Given the description of an element on the screen output the (x, y) to click on. 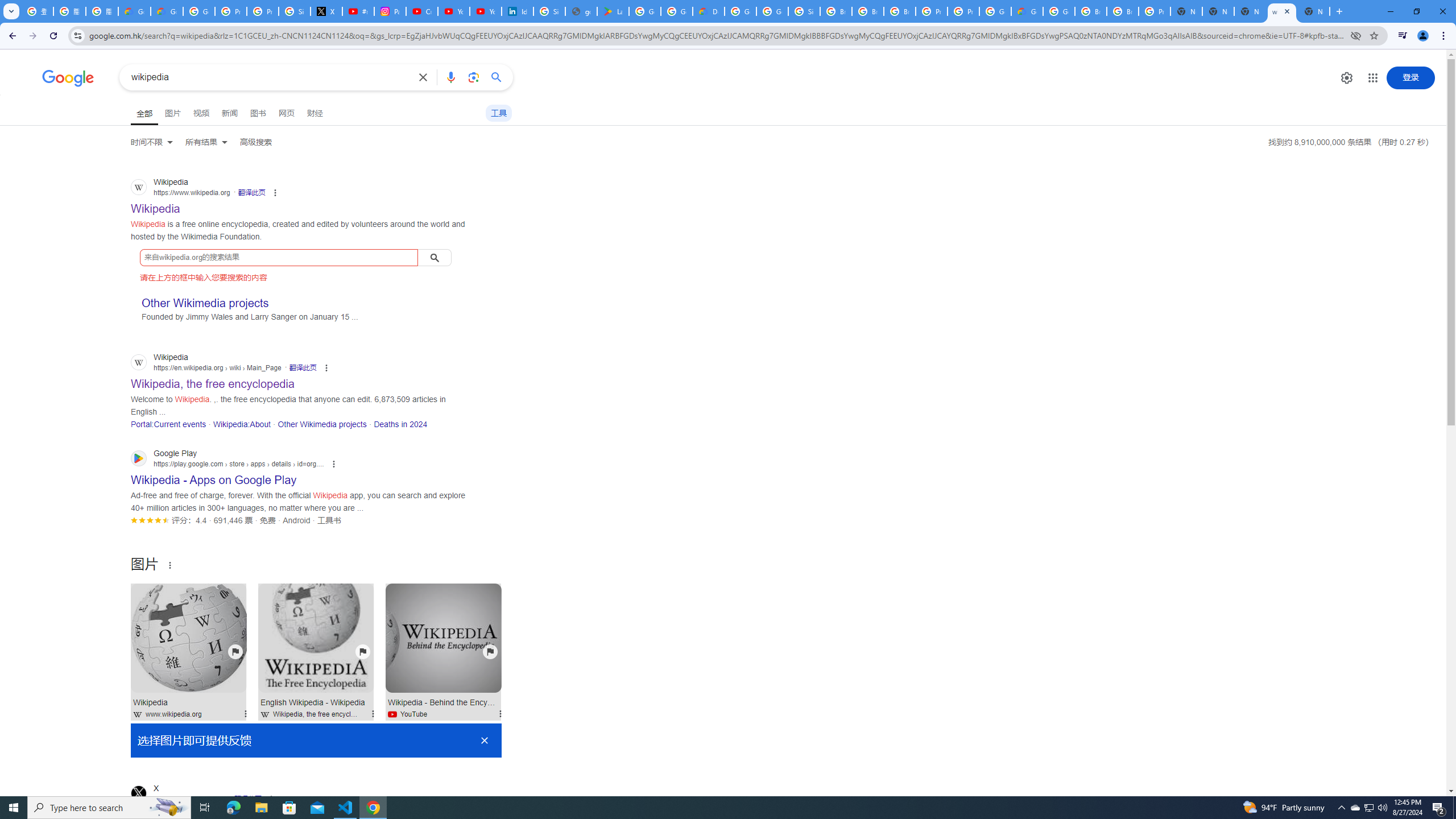
Portal:Current events (168, 424)
New Tab (1185, 11)
Google Cloud Privacy Notice (166, 11)
Browse Chrome as a guest - Computer - Google Chrome Help (868, 11)
